Given the description of an element on the screen output the (x, y) to click on. 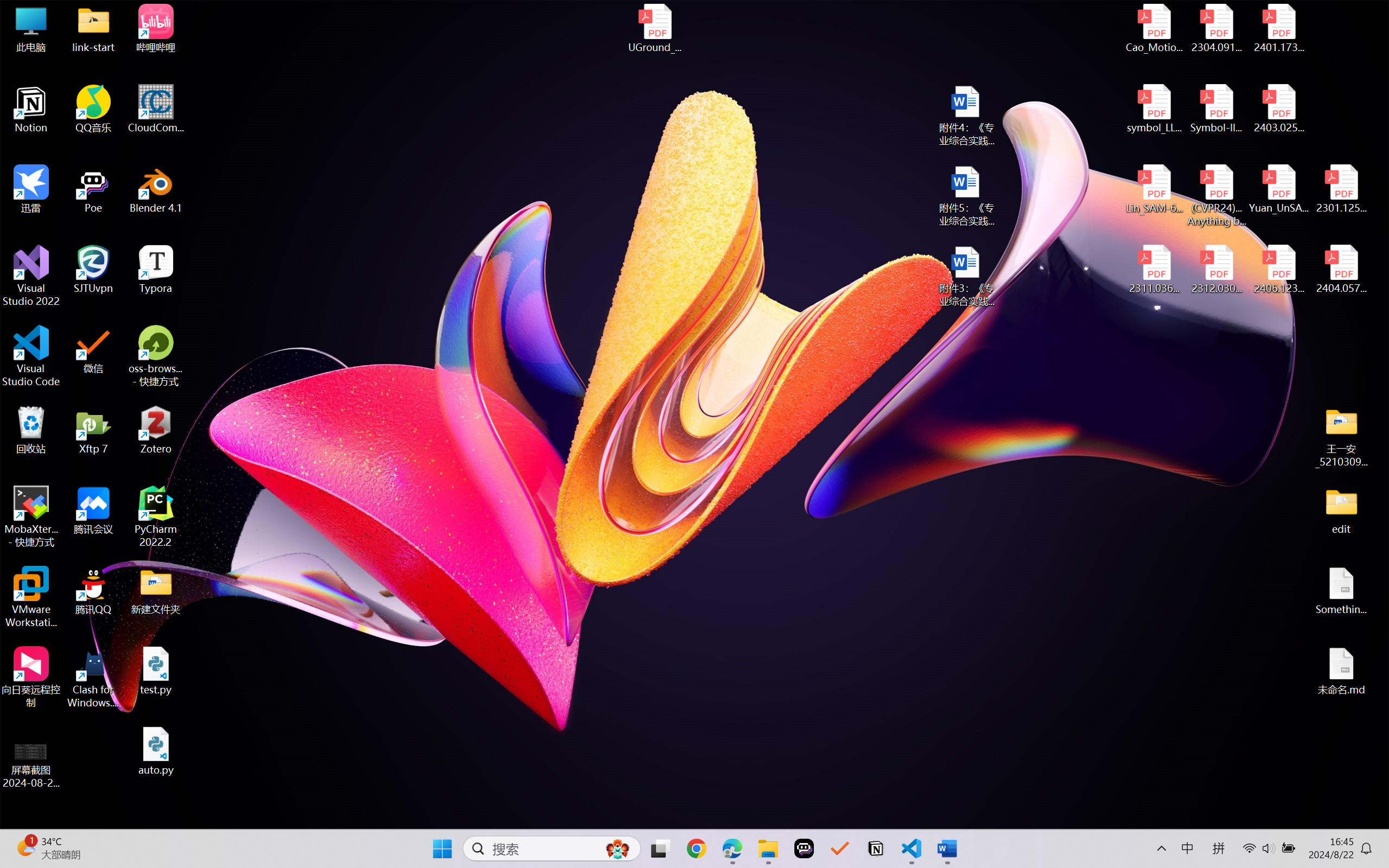
VMware Workstation Pro (31, 597)
UGround_paper.pdf (654, 28)
2301.12597v3.pdf (1340, 189)
